Given the description of an element on the screen output the (x, y) to click on. 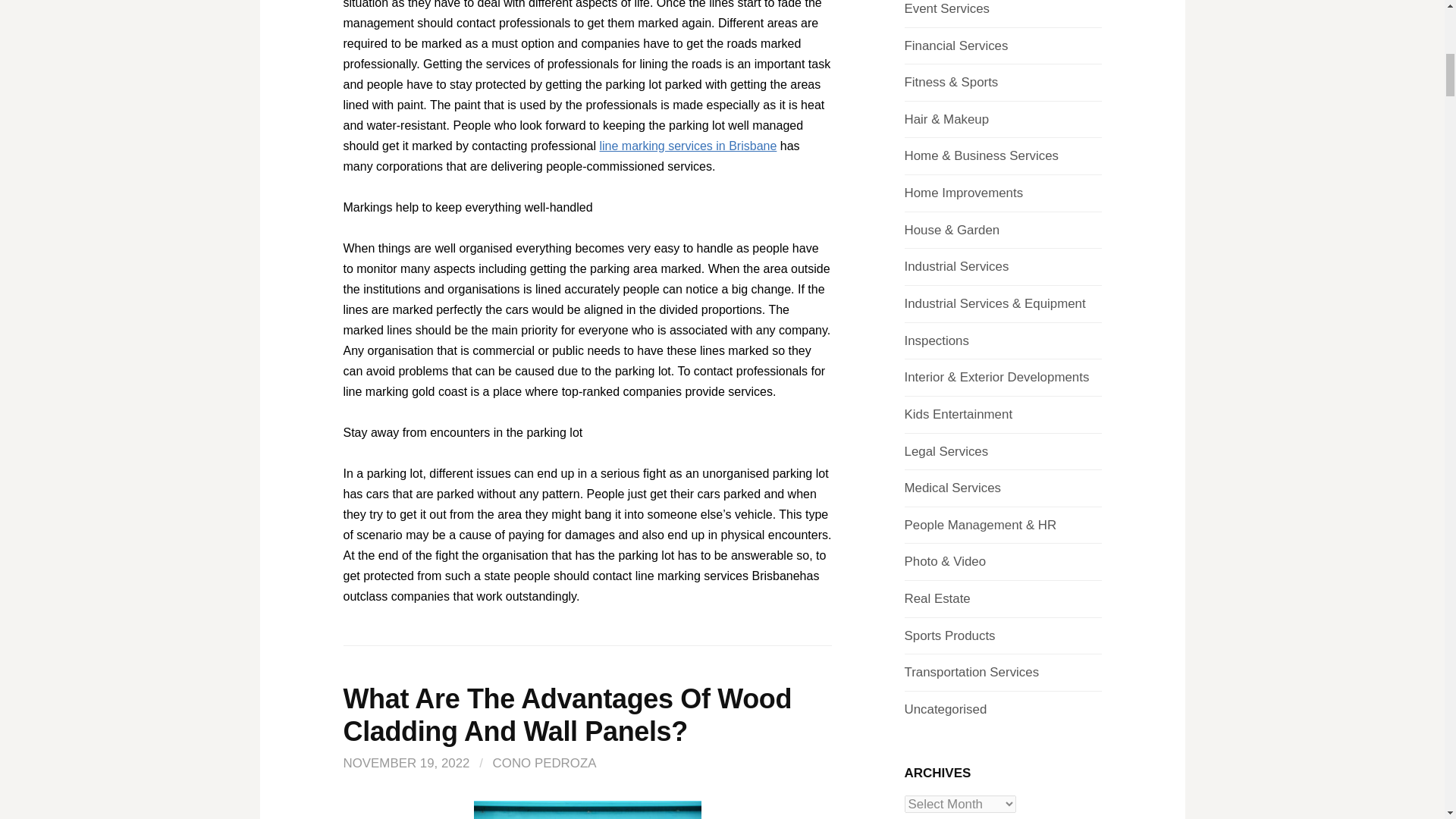
line marking services in Brisbane (687, 145)
2.jpg (586, 809)
What Are The Advantages Of Wood Cladding And Wall Panels? (567, 714)
line marking services in Brisbane (687, 145)
NOVEMBER 19, 2022 (405, 762)
CONO PEDROZA (544, 762)
